Given the description of an element on the screen output the (x, y) to click on. 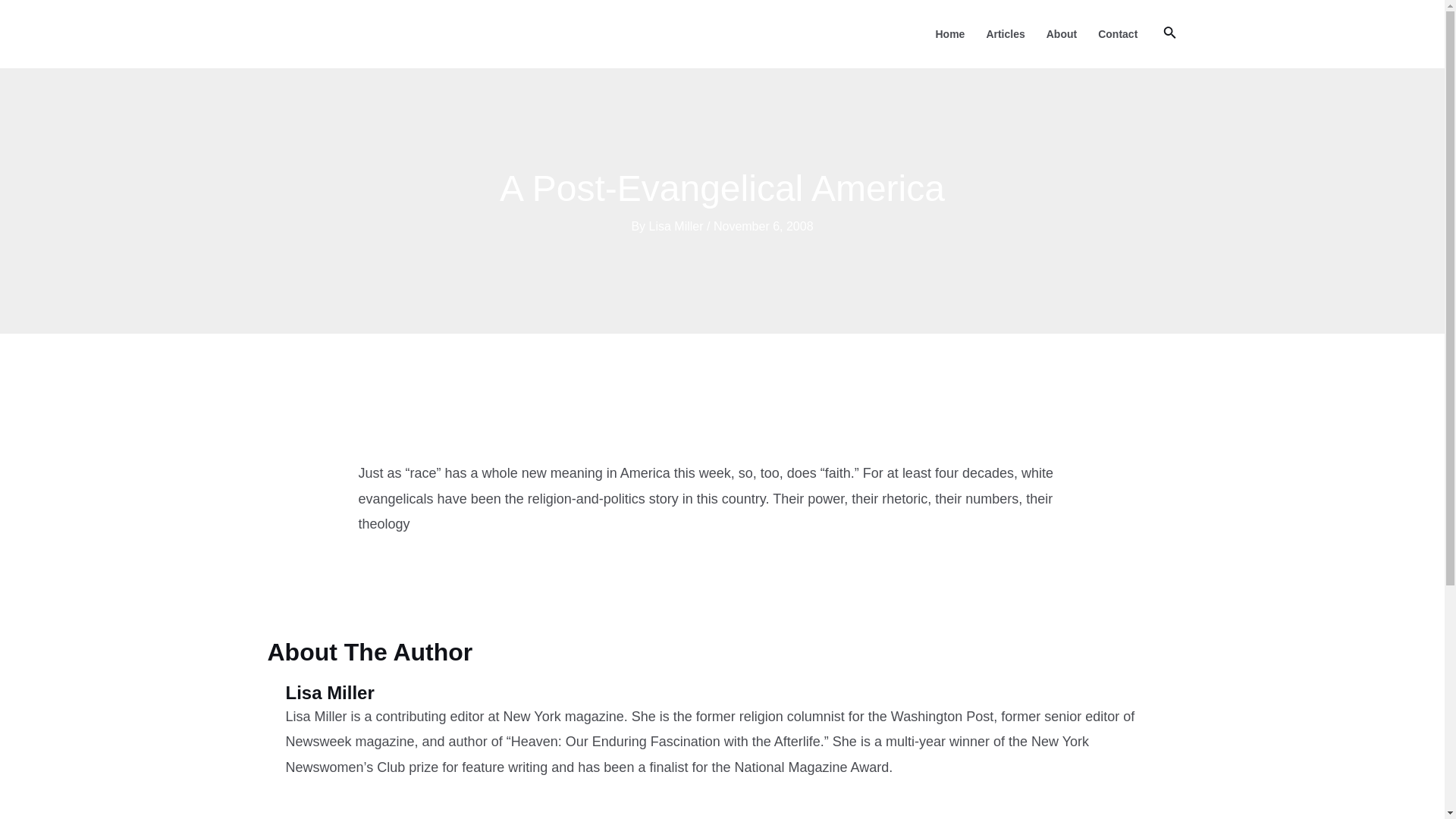
Contact (1117, 33)
About (1061, 33)
Articles (1005, 33)
Lisa Miller (677, 226)
Lisa Miller (730, 693)
Home (949, 33)
View all posts by Lisa Miller (677, 226)
